Given the description of an element on the screen output the (x, y) to click on. 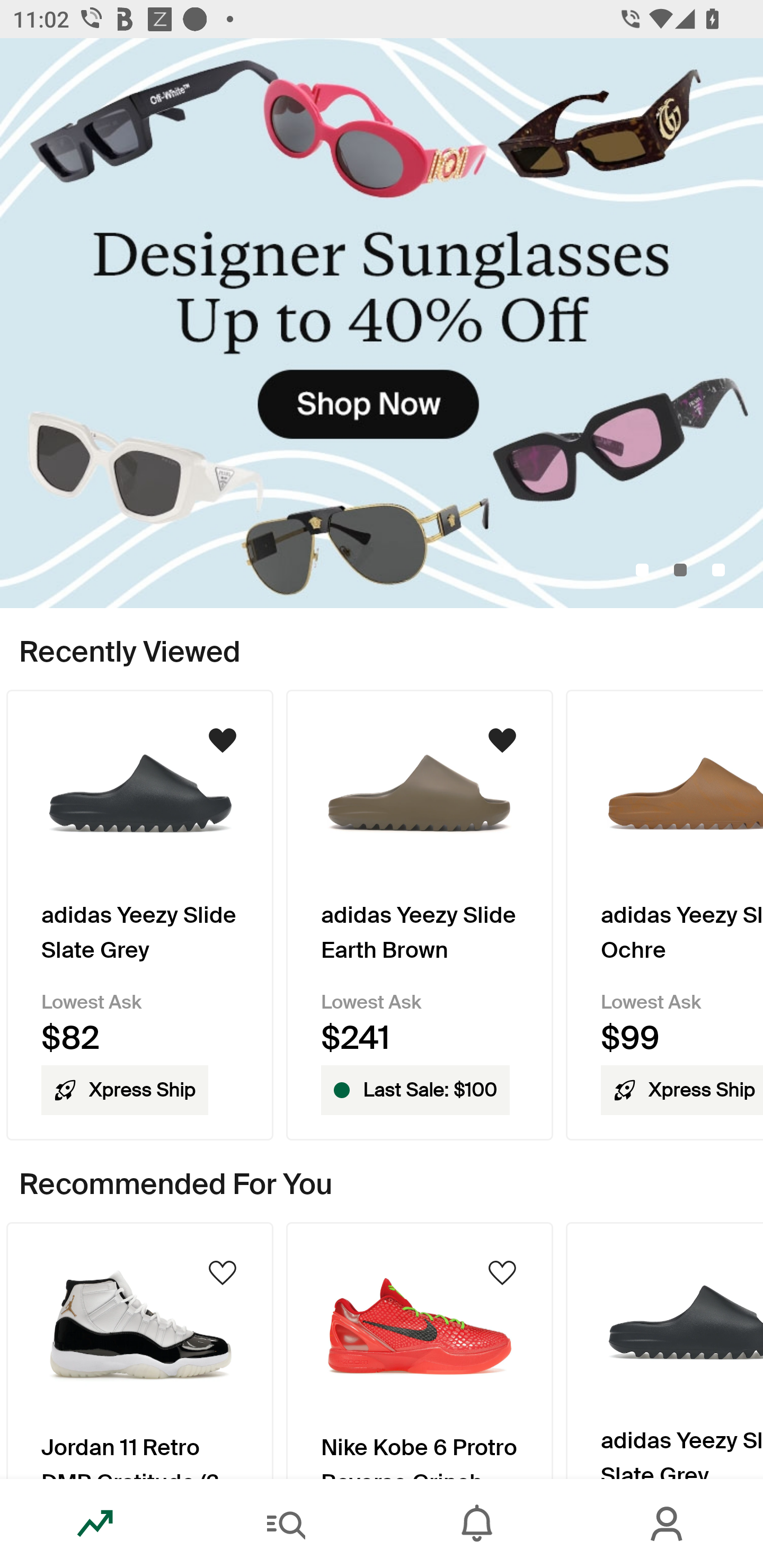
DesignerSunglassesUpto40_Off_Primary_Mobile.jpg (381, 322)
Product Image Jordan 11 Retro DMP Gratitude (2023) (139, 1349)
Product Image Nike Kobe 6 Protro Reverse Grinch (419, 1349)
Product Image adidas Yeezy Slide Slate Grey (664, 1349)
Search (285, 1523)
Inbox (476, 1523)
Account (667, 1523)
